Given the description of an element on the screen output the (x, y) to click on. 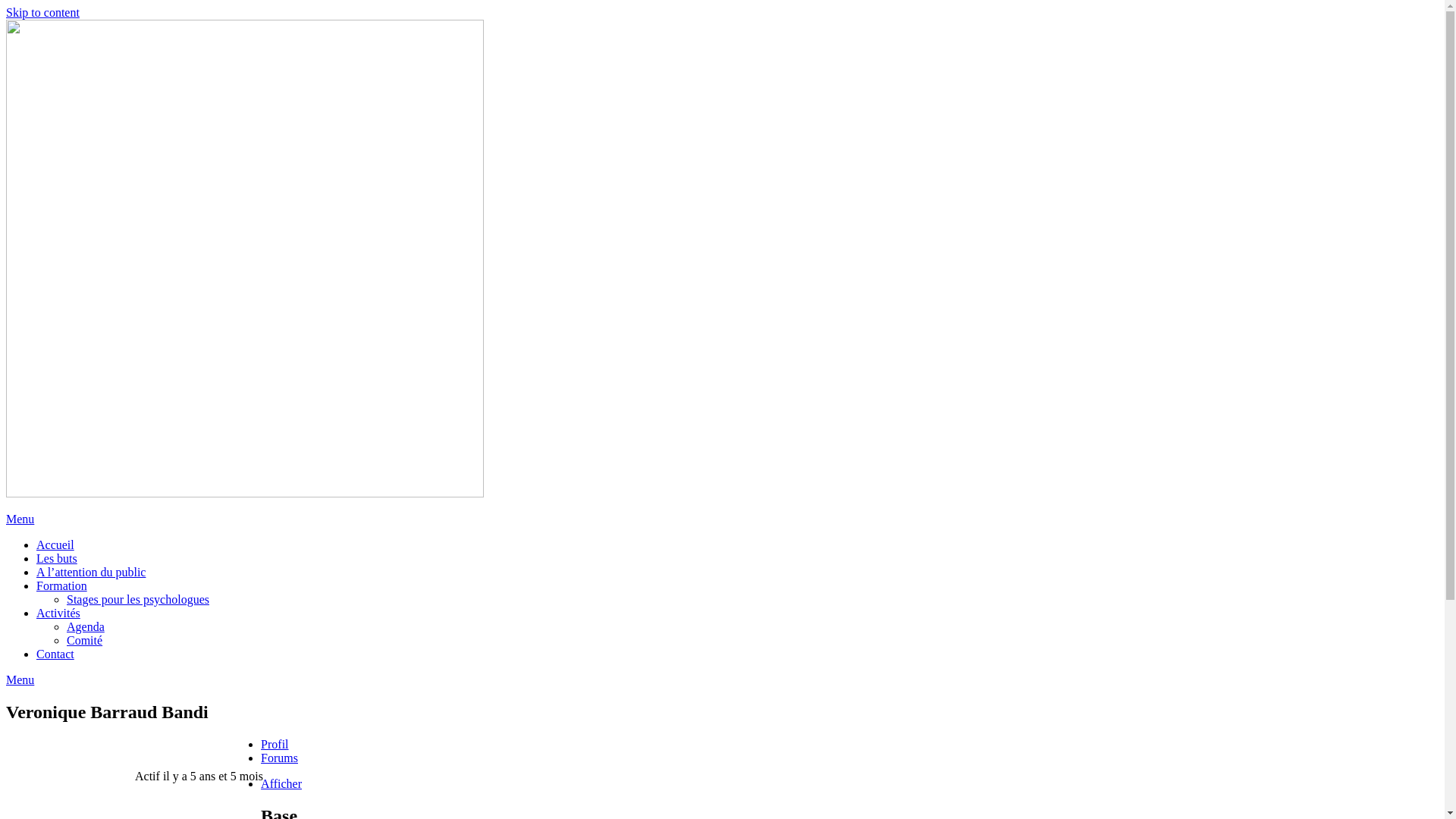
Accueil Element type: text (55, 544)
Agenda Element type: text (85, 626)
Forums Element type: text (279, 757)
Formation Element type: text (61, 585)
Skip to content Element type: text (42, 12)
Menu Element type: text (20, 679)
Afficher Element type: text (280, 783)
Stages pour les psychologues Element type: text (137, 599)
Profil Element type: text (274, 743)
Contact Element type: text (55, 653)
Les buts Element type: text (56, 558)
Menu Element type: text (20, 518)
